Given the description of an element on the screen output the (x, y) to click on. 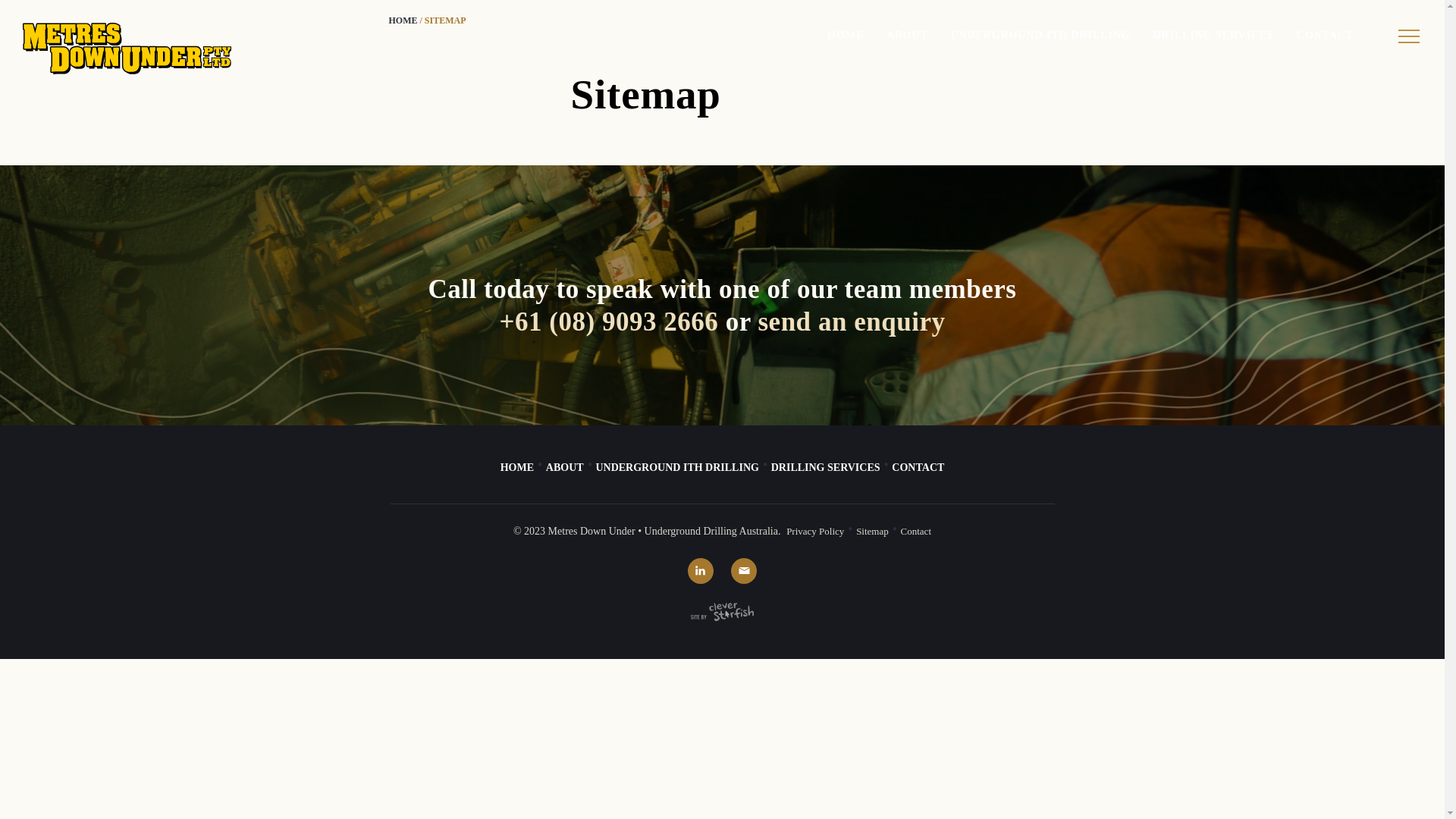
HOME Element type: text (402, 20)
send an enquiry Element type: text (850, 321)
HOME Element type: text (516, 467)
LinkedIn Element type: text (700, 570)
Site by Clever Starfish Element type: text (721, 611)
UNDERGROUND ITH DRILLING Element type: text (1039, 35)
CONTACT Element type: text (917, 467)
ABOUT Element type: text (564, 467)
UNDERGROUND ITH DRILLING Element type: text (676, 467)
DRILLING SERVICES Element type: text (1213, 35)
DRILLING SERVICES Element type: text (825, 467)
Contact Element type: text (915, 531)
Privacy Policy Element type: text (815, 531)
ABOUT Element type: text (906, 35)
Sitemap Element type: text (872, 531)
Email Element type: text (743, 570)
Menu Element type: text (1408, 35)
HOME Element type: text (845, 35)
+61 (08) 9093 2666 Element type: text (608, 321)
CONTACT Element type: text (1324, 35)
